Given the description of an element on the screen output the (x, y) to click on. 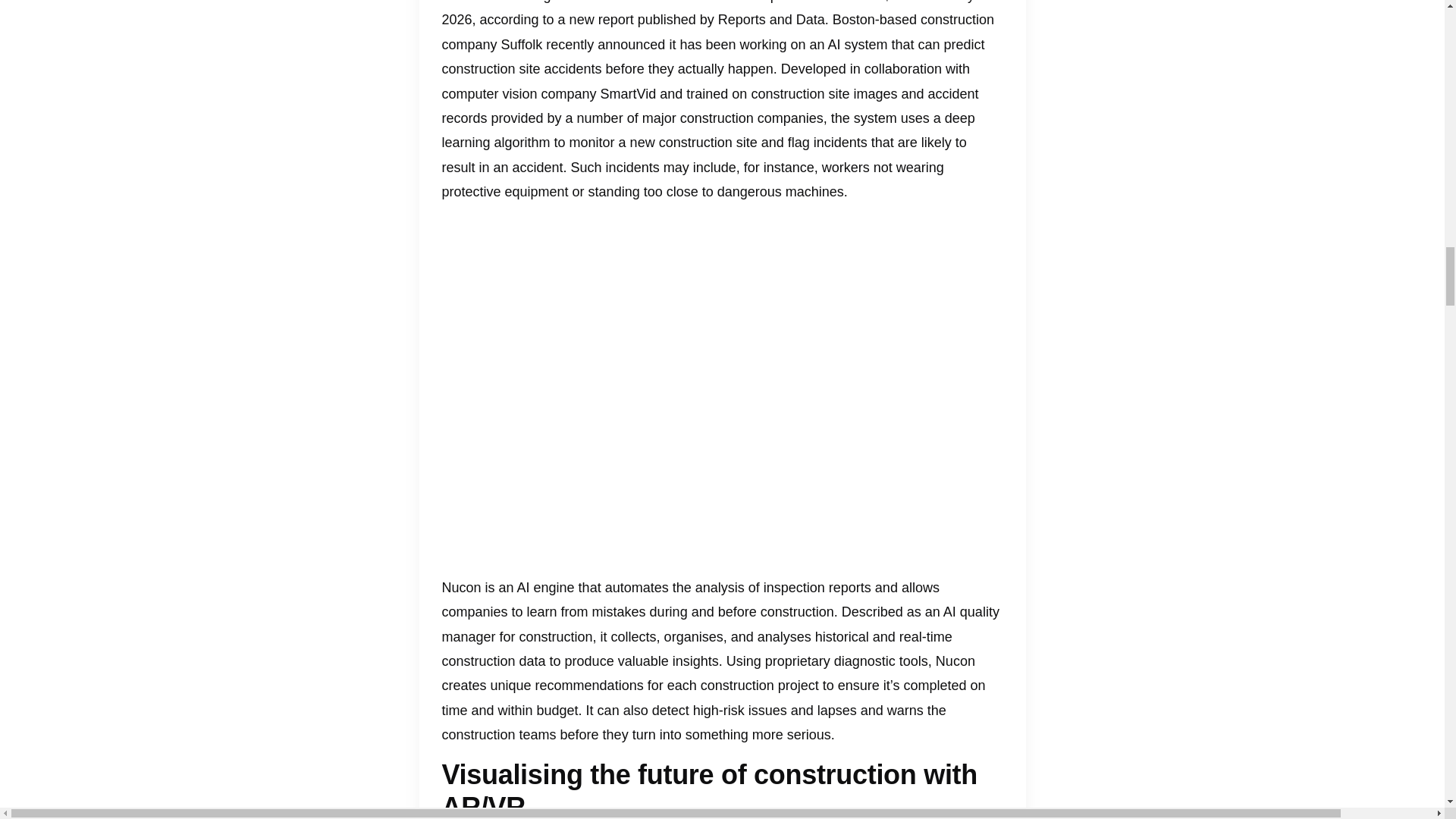
announced (630, 44)
automates (636, 587)
according to (517, 19)
